Given the description of an element on the screen output the (x, y) to click on. 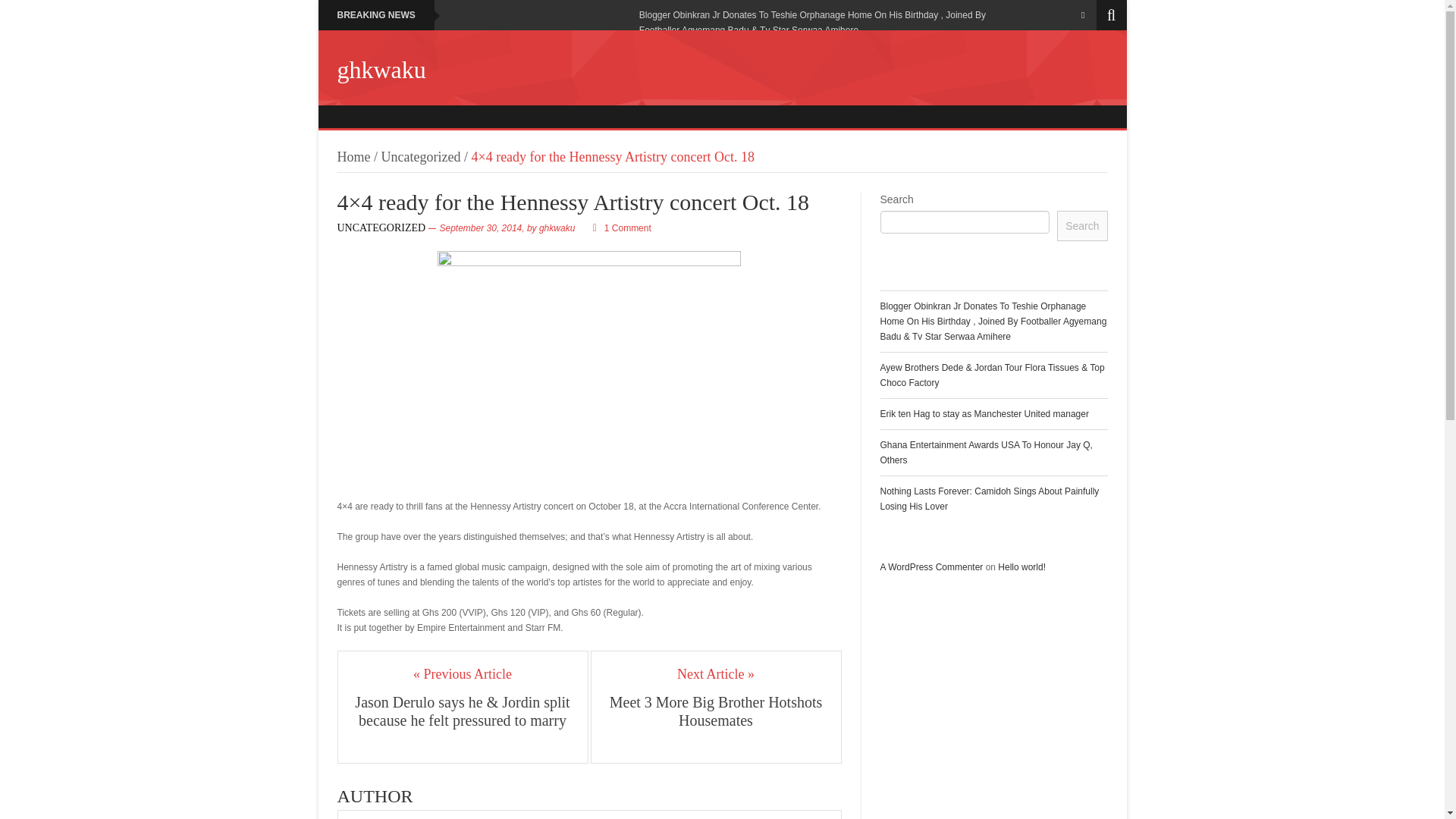
Uncategorized (421, 156)
ghkwaku (556, 227)
Hello world! (1021, 566)
Posts by ghkwaku (556, 227)
Erik ten Hag to stay as Manchester United manager (983, 413)
Ghana Entertainment Awards USA To Honour Jay Q, Others (985, 452)
ghkwaku (380, 69)
UNCATEGORIZED (380, 227)
A WordPress Commenter (930, 566)
1 Comment (627, 227)
